Given the description of an element on the screen output the (x, y) to click on. 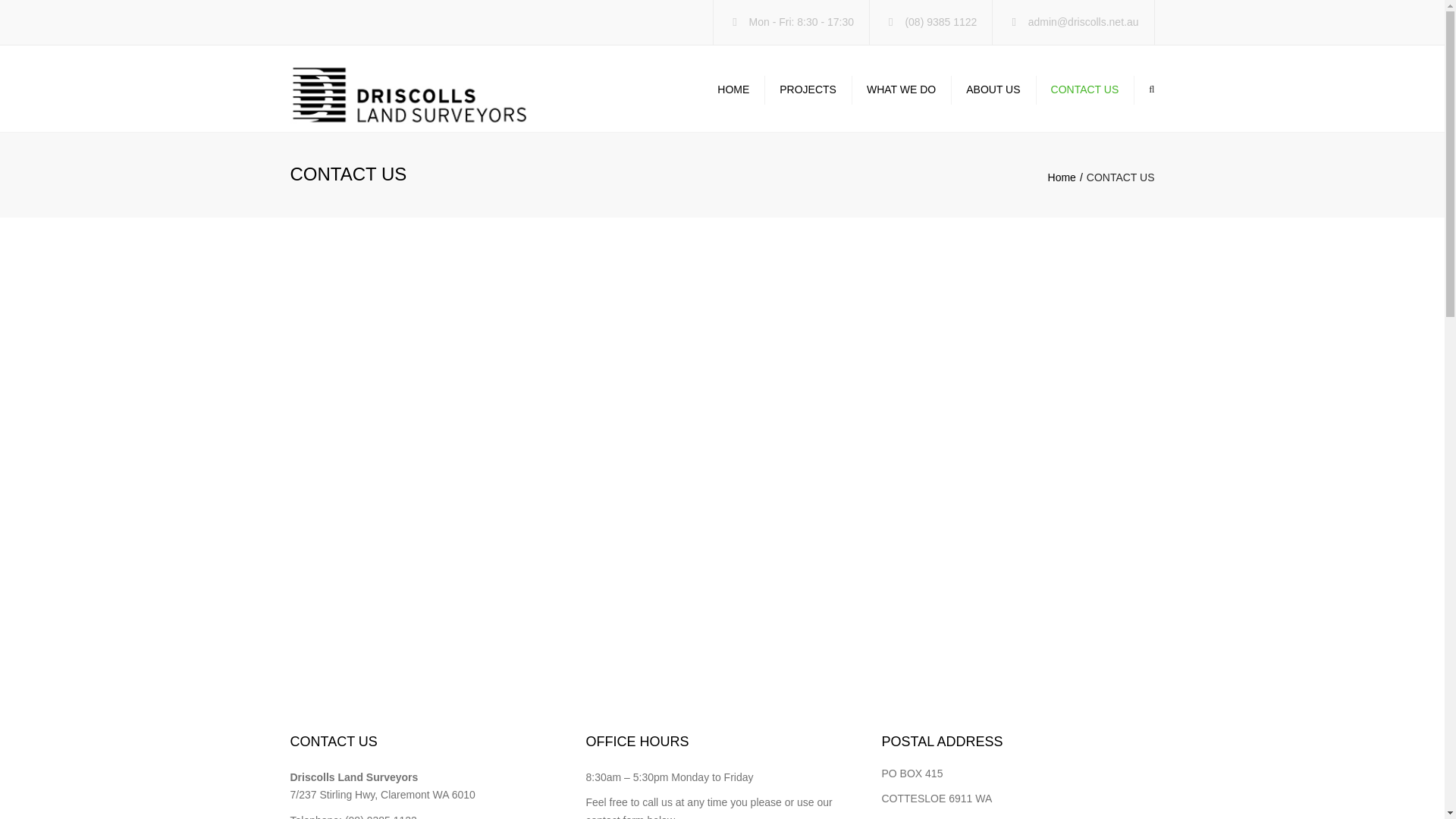
CONTACT US Element type: text (1084, 89)
admin@driscolls.net.au Element type: text (1083, 17)
PROJECTS Element type: text (807, 89)
Home Element type: text (1067, 177)
WHAT WE DO Element type: text (901, 89)
HOME Element type: text (736, 89)
ABOUT US Element type: text (992, 89)
